Given the description of an element on the screen output the (x, y) to click on. 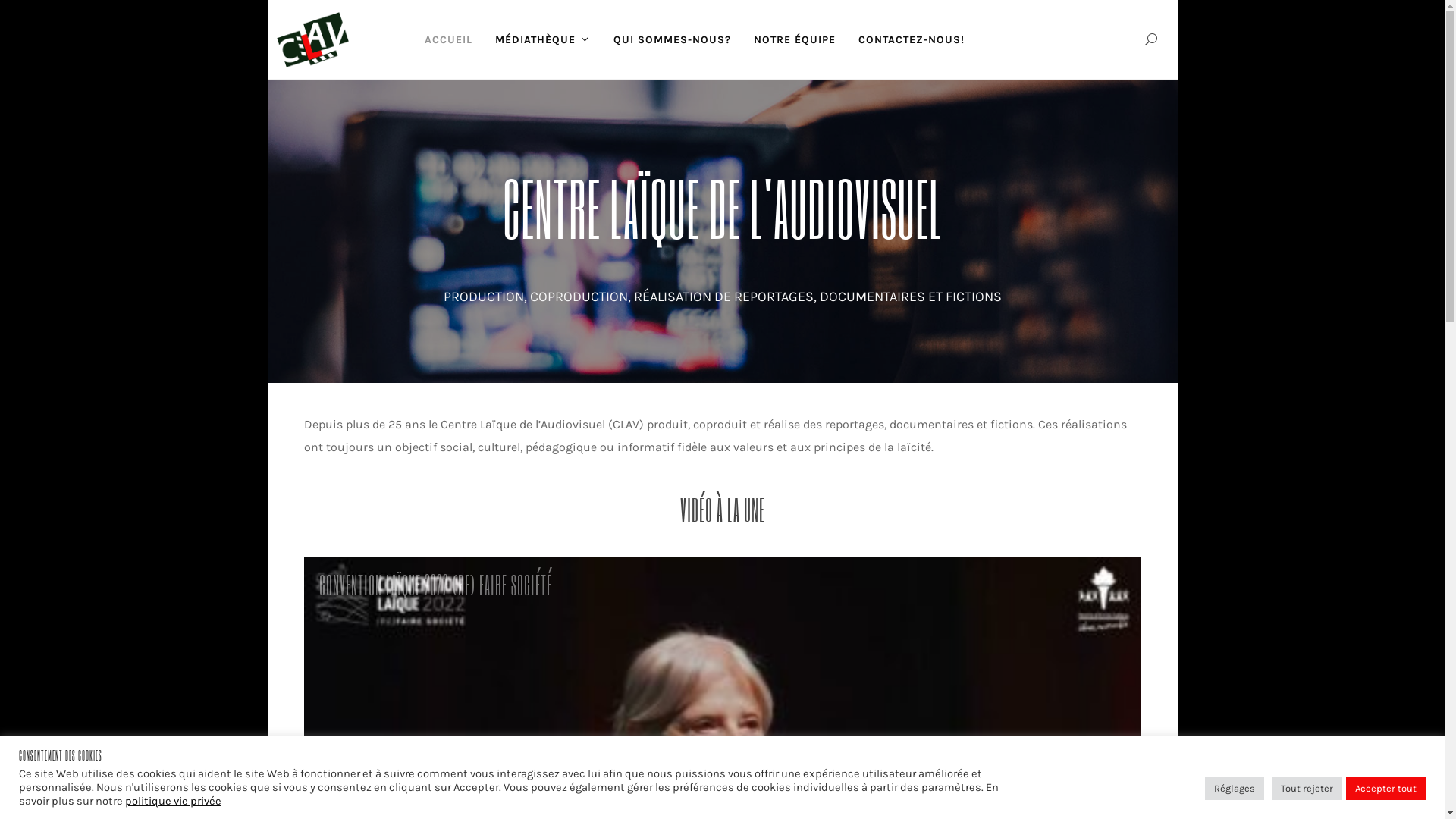
Tout rejeter Element type: text (1306, 788)
ACCUEIL Element type: text (447, 39)
CONTACTEZ-NOUS! Element type: text (910, 39)
QUI SOMMES-NOUS? Element type: text (672, 39)
Search Element type: hover (1150, 39)
Accepter tout Element type: text (1385, 788)
